Given the description of an element on the screen output the (x, y) to click on. 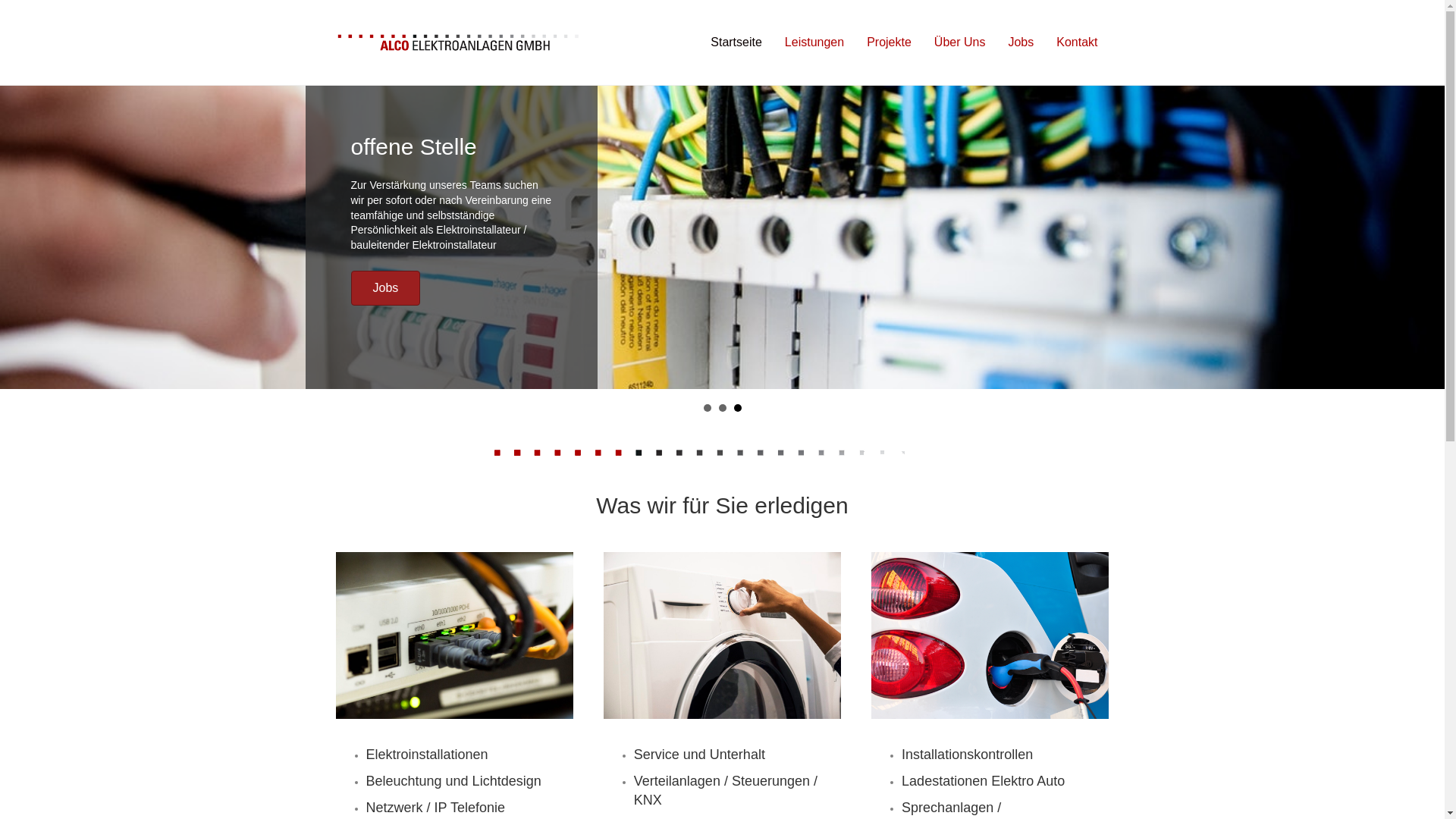
1 Element type: text (707, 407)
network-cable-ethernet-computer-159304 Element type: hover (453, 635)
pexels-photo-1321725 Element type: hover (721, 635)
Verteilanlagen / Steuerungen / KNX Element type: text (725, 790)
Netzwerk / IP Telefonie Element type: text (434, 807)
3 Element type: text (737, 407)
Service und Unterhalt Element type: text (699, 754)
trenner Element type: hover (721, 452)
mobilityloesungen-e1493717553786 Element type: hover (989, 635)
Jobs Element type: text (1020, 42)
Elektroinstallationen Element type: text (426, 754)
Beleuchtung und Lichtdesign Element type: text (452, 780)
Ladestationen Elektro Auto Element type: text (982, 780)
Leistungen Element type: text (814, 42)
Installationskontrollen Element type: text (966, 754)
Startseite Element type: text (736, 42)
Projekte Element type: text (888, 42)
Jobs Element type: text (385, 287)
2 Element type: text (722, 407)
Kontakt Element type: text (1076, 42)
